Given the description of an element on the screen output the (x, y) to click on. 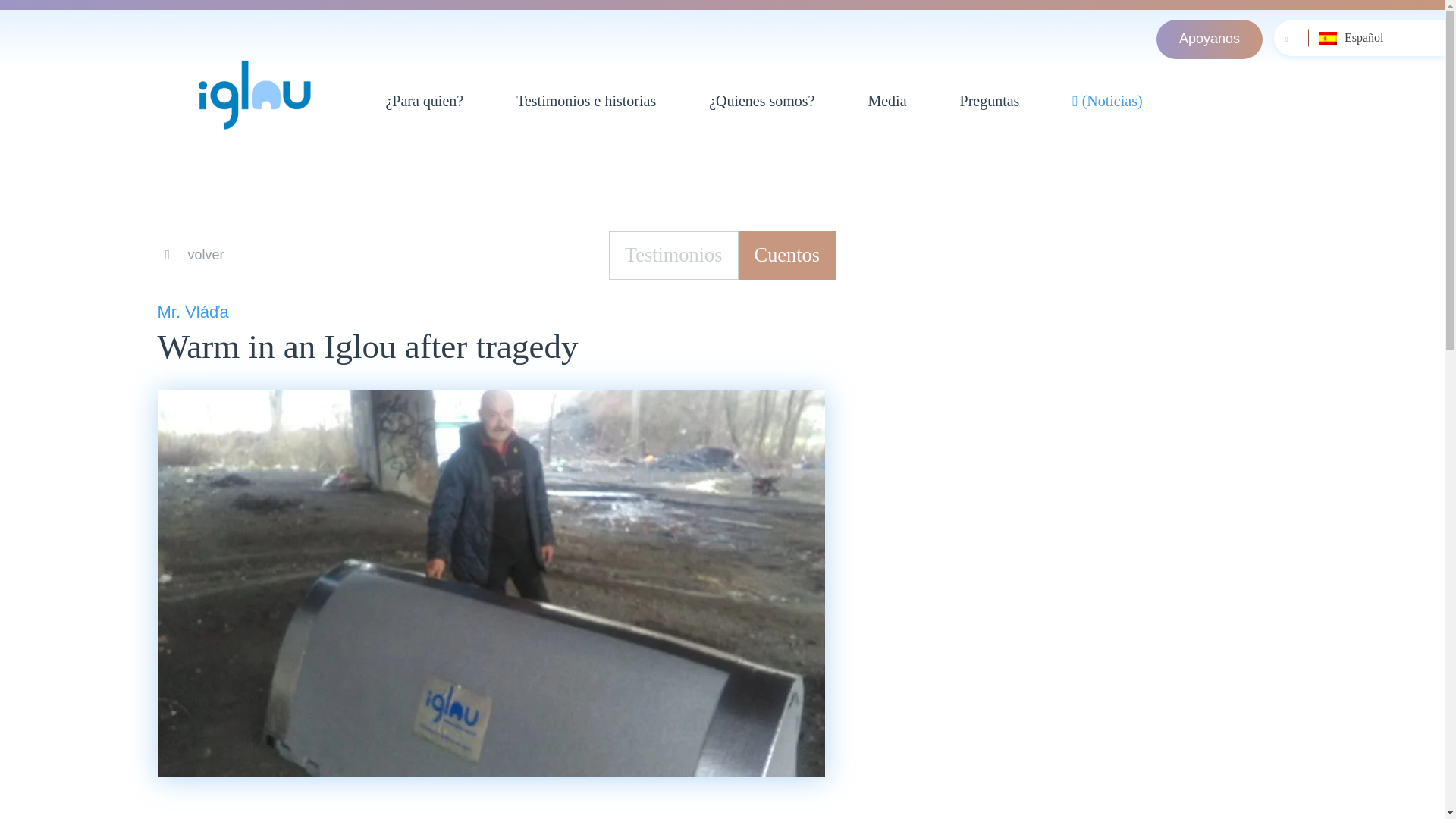
volver (194, 255)
Media (887, 100)
Testimonios e historias (585, 100)
Cuentos (786, 255)
Testimonios (673, 255)
Preguntas (989, 100)
Apoyanos (1209, 38)
